Given the description of an element on the screen output the (x, y) to click on. 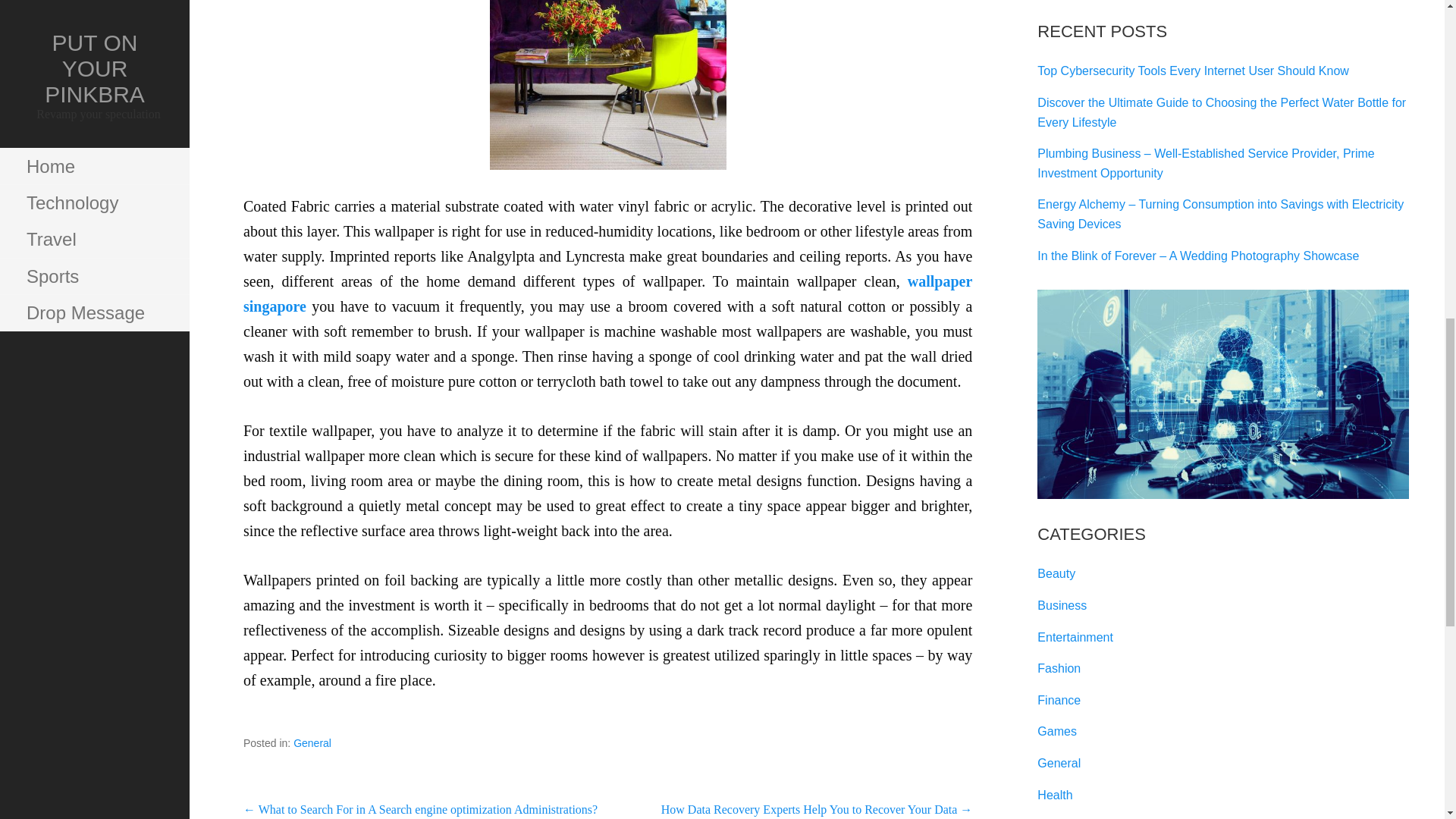
Health (1053, 794)
Finance (1058, 699)
Fashion (1058, 667)
Top Cybersecurity Tools Every Internet User Should Know (1192, 70)
Business (1061, 604)
Beauty (1055, 573)
Entertainment (1074, 636)
wallpaper singapore (607, 293)
Games (1056, 730)
General (312, 743)
General (1058, 762)
